Given the description of an element on the screen output the (x, y) to click on. 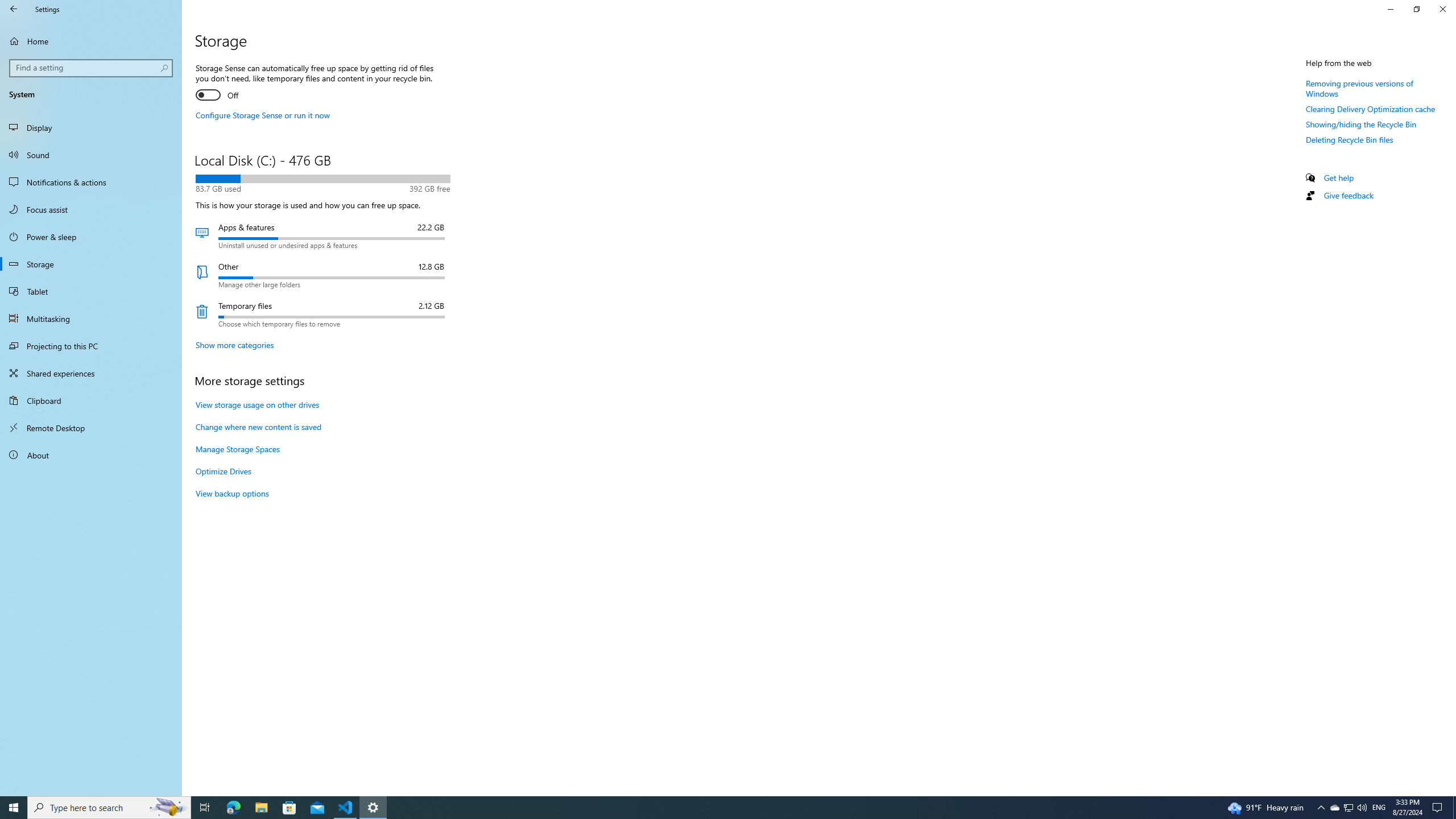
Manage Storage Spaces (237, 448)
Remote Desktop (91, 427)
Home (91, 40)
Deleting Recycle Bin files (1349, 139)
Storage (91, 263)
Start (13, 807)
Search highlights icon opens search home window (167, 807)
Change where new content is saved (258, 426)
Power & sleep (91, 236)
Clipboard (91, 400)
Tablet (91, 290)
Temporary files (322, 314)
Removing previous versions of Windows (1359, 87)
Back (13, 9)
Configure Storage Sense or run it now (262, 114)
